Given the description of an element on the screen output the (x, y) to click on. 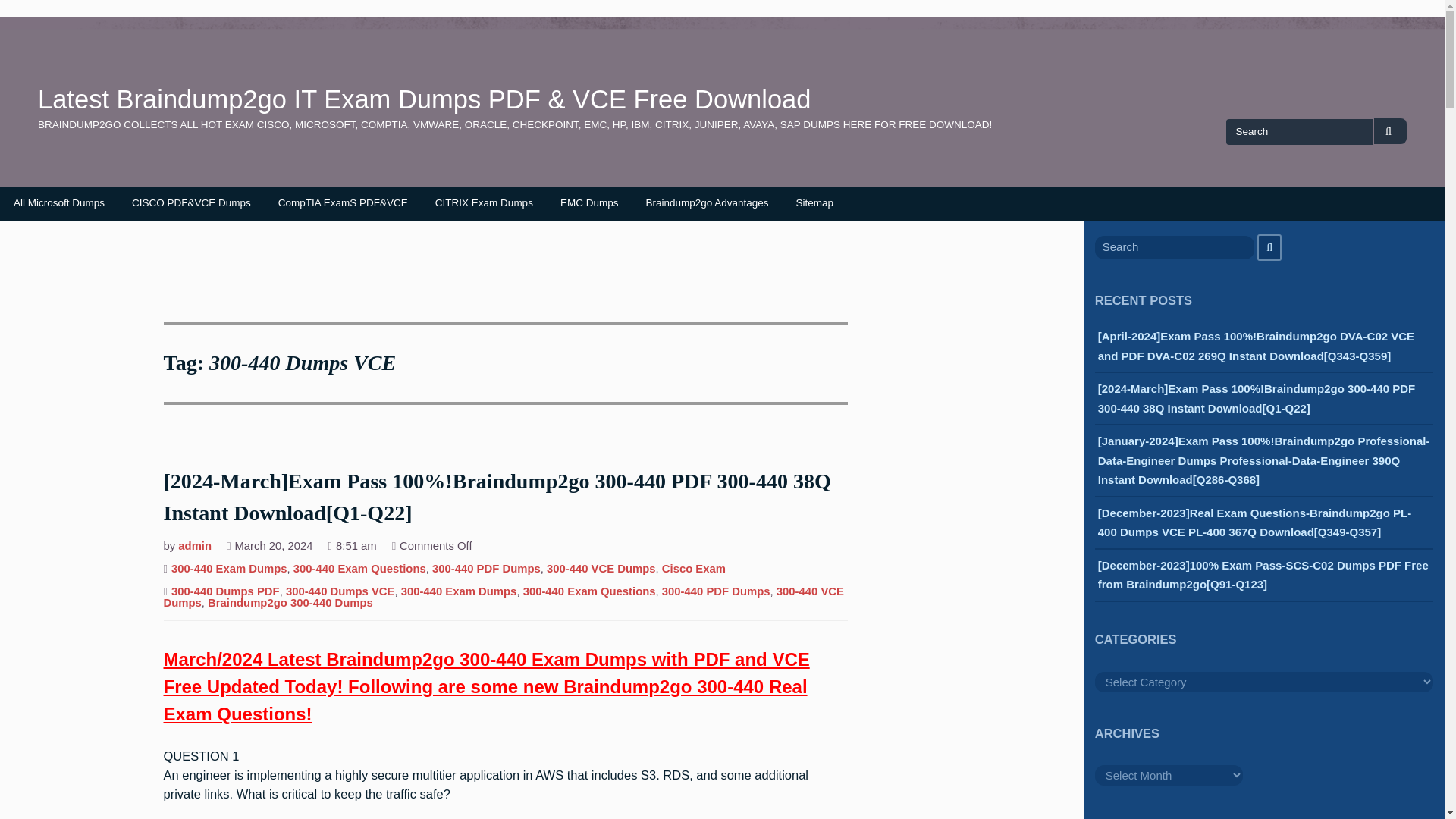
Cisco Exam (693, 570)
Search (1269, 247)
Posts by admin (194, 547)
300-440 VCE Dumps (601, 570)
300-440 Exam Dumps (228, 570)
300-440 Exam Questions (360, 570)
300-440 PDF Dumps (716, 592)
Search (1390, 130)
Braindump2go Advantages (706, 203)
300-440 PDF Dumps (486, 570)
Sitemap (815, 203)
300-440 Exam Questions (589, 592)
300-440 Dumps VCE (339, 592)
300-440 Dumps PDF (225, 592)
EMC Dumps (589, 203)
